Given the description of an element on the screen output the (x, y) to click on. 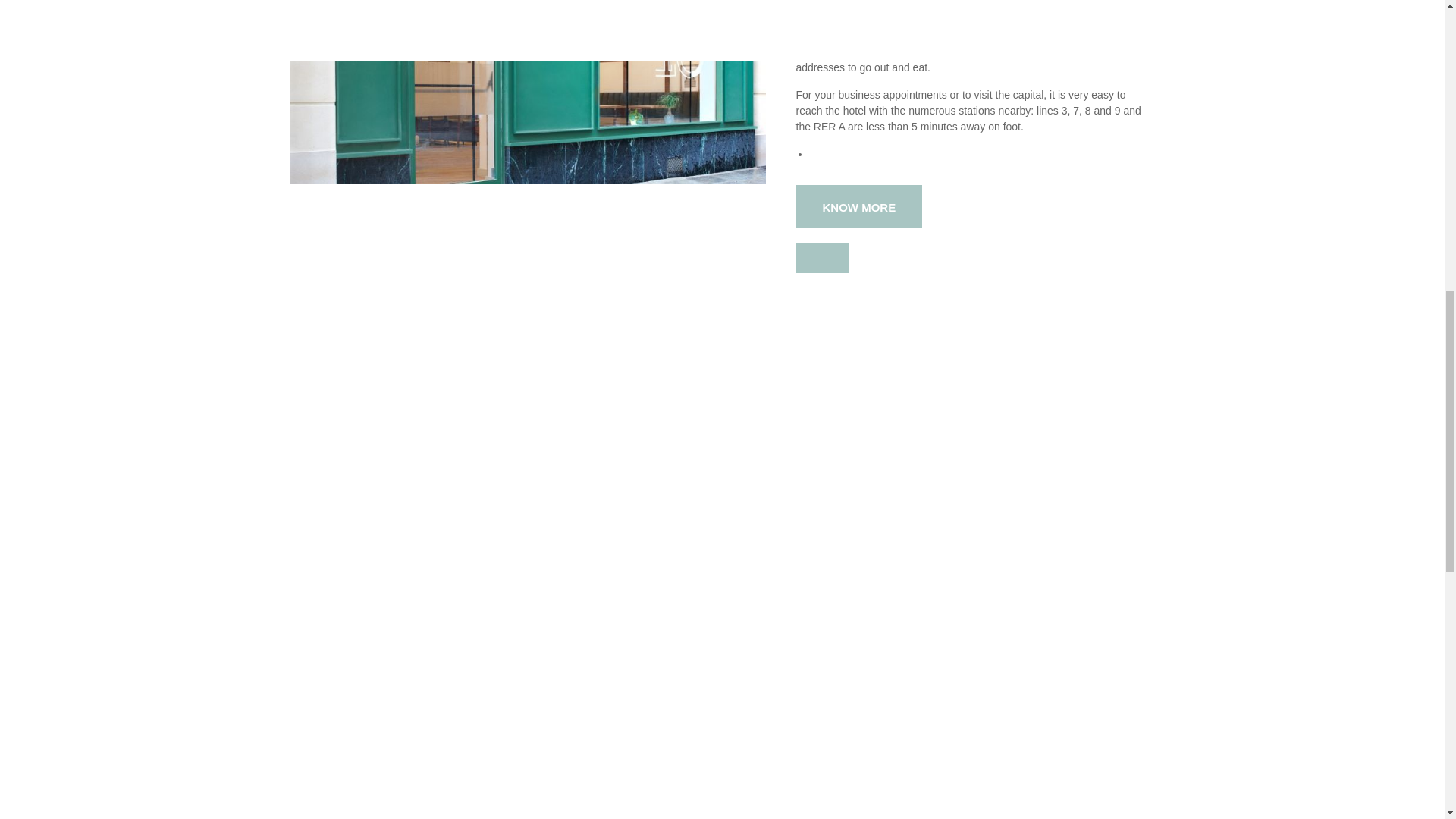
KNOW MORE (859, 206)
